Given the description of an element on the screen output the (x, y) to click on. 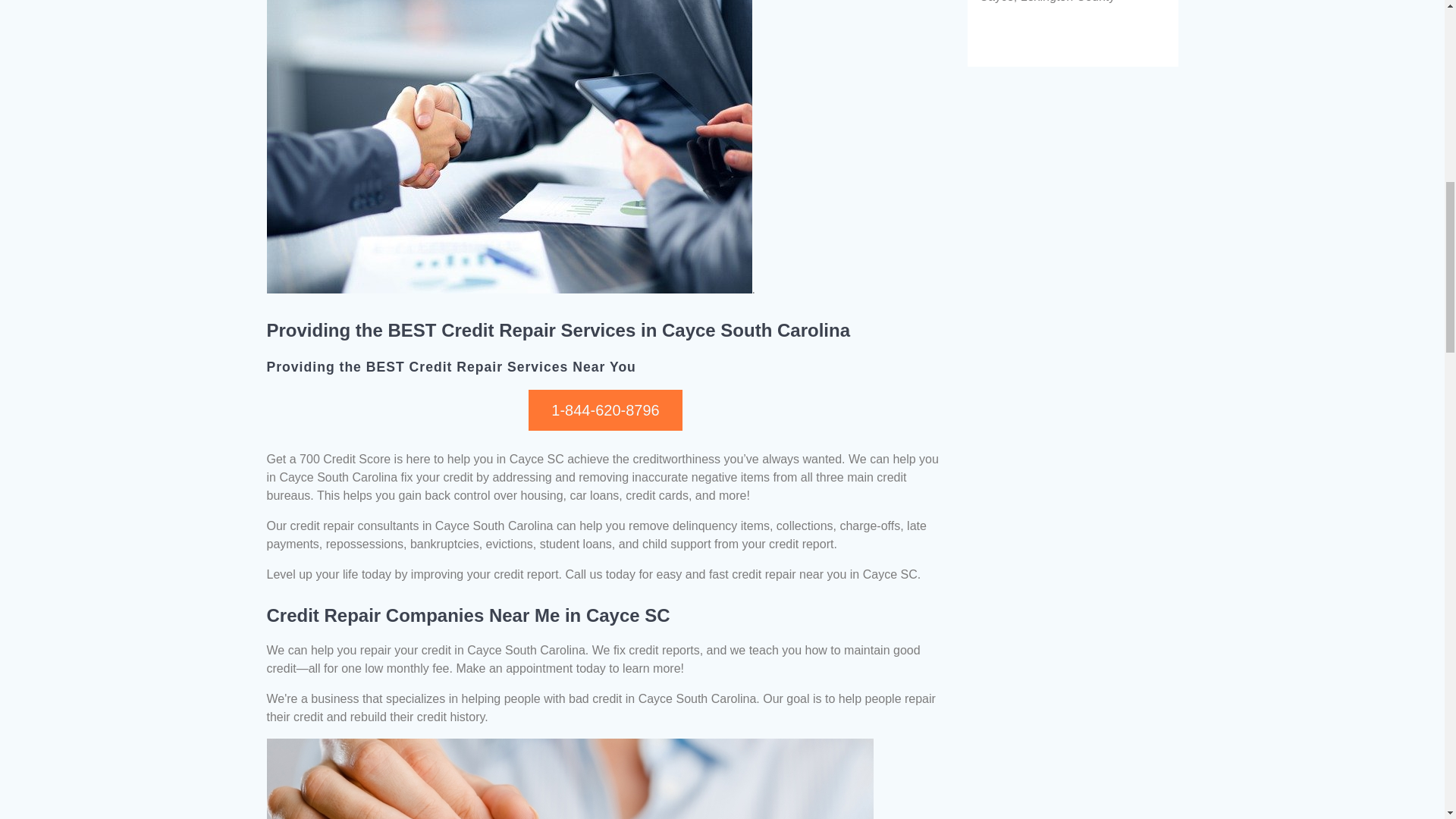
1-844-620-8796 (604, 409)
